Given the description of an element on the screen output the (x, y) to click on. 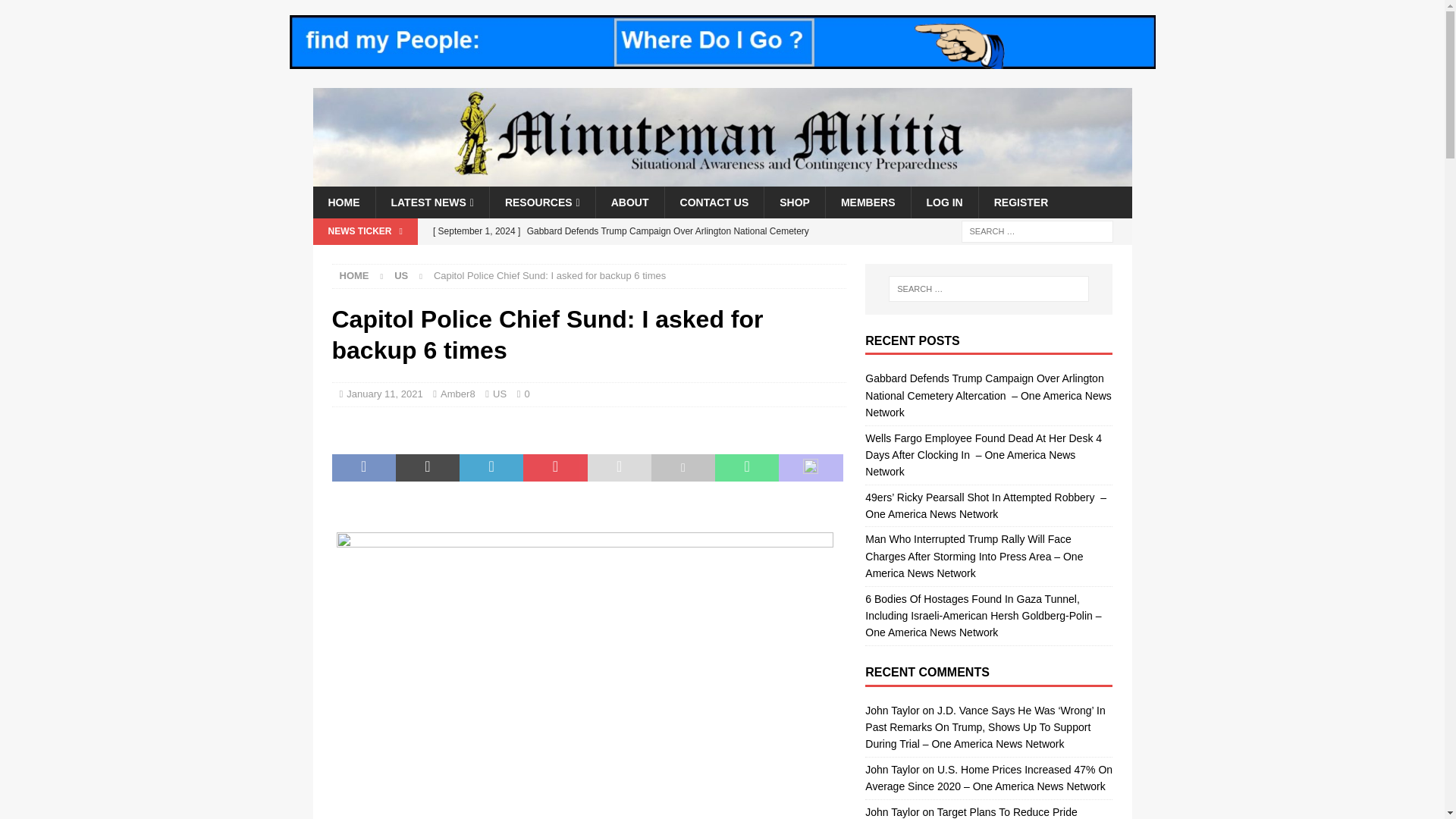
Home (354, 275)
Tweet This Post (428, 467)
MEMBERS (868, 202)
Search (56, 11)
Amber8 (458, 393)
REGISTER (1021, 202)
Minuteman Militia (722, 177)
SHOP (793, 202)
US (400, 275)
Share on LinkedIn (491, 467)
